Given the description of an element on the screen output the (x, y) to click on. 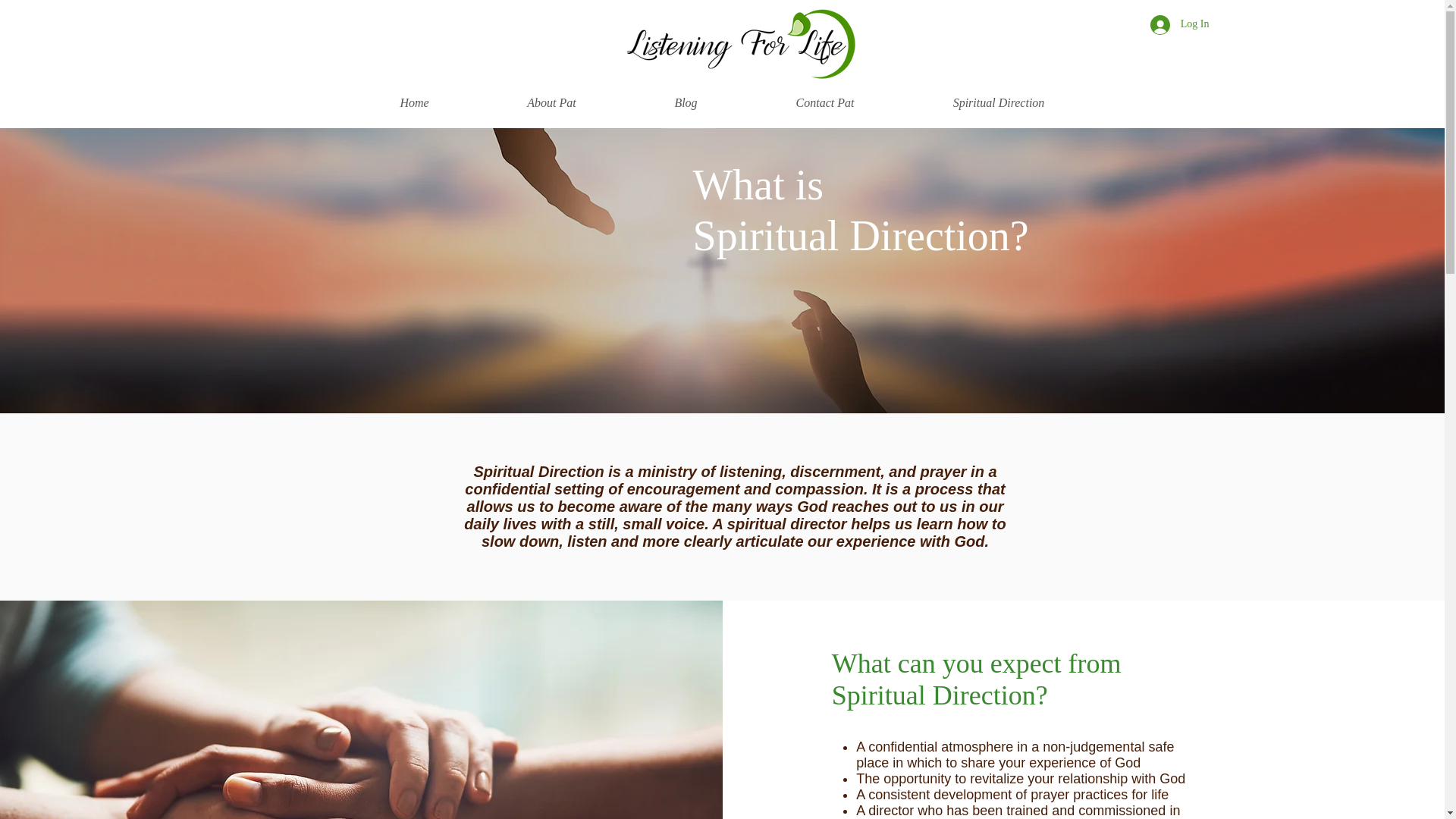
About Pat (550, 102)
Spiritual Direction (999, 102)
Contact Pat (823, 102)
Log In (1180, 24)
Blog (684, 102)
Home (413, 102)
